Given the description of an element on the screen output the (x, y) to click on. 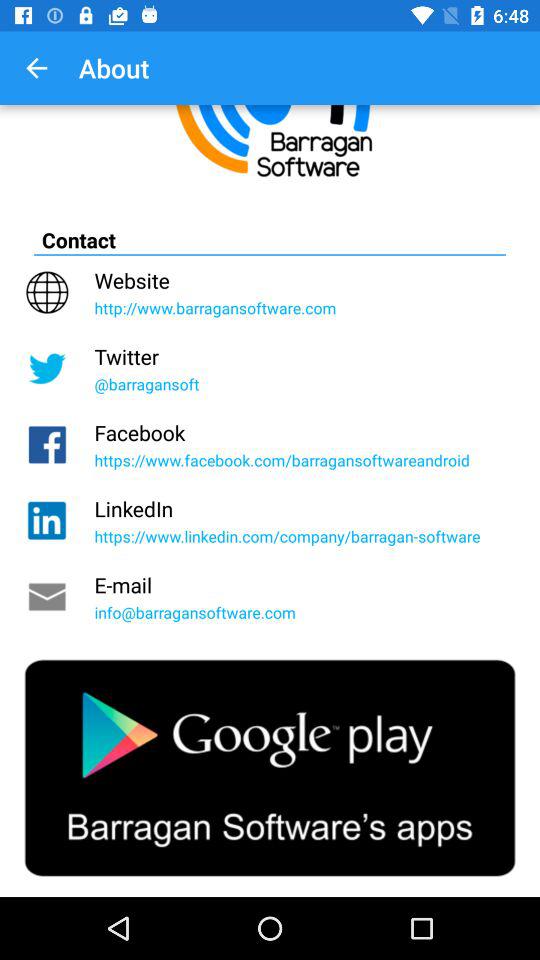
go to the last option (269, 767)
go to the icon which is left to the email (47, 597)
select the linkedin icon which is  just below the facebook icon (47, 521)
select option above facebook (269, 367)
